Given the description of an element on the screen output the (x, y) to click on. 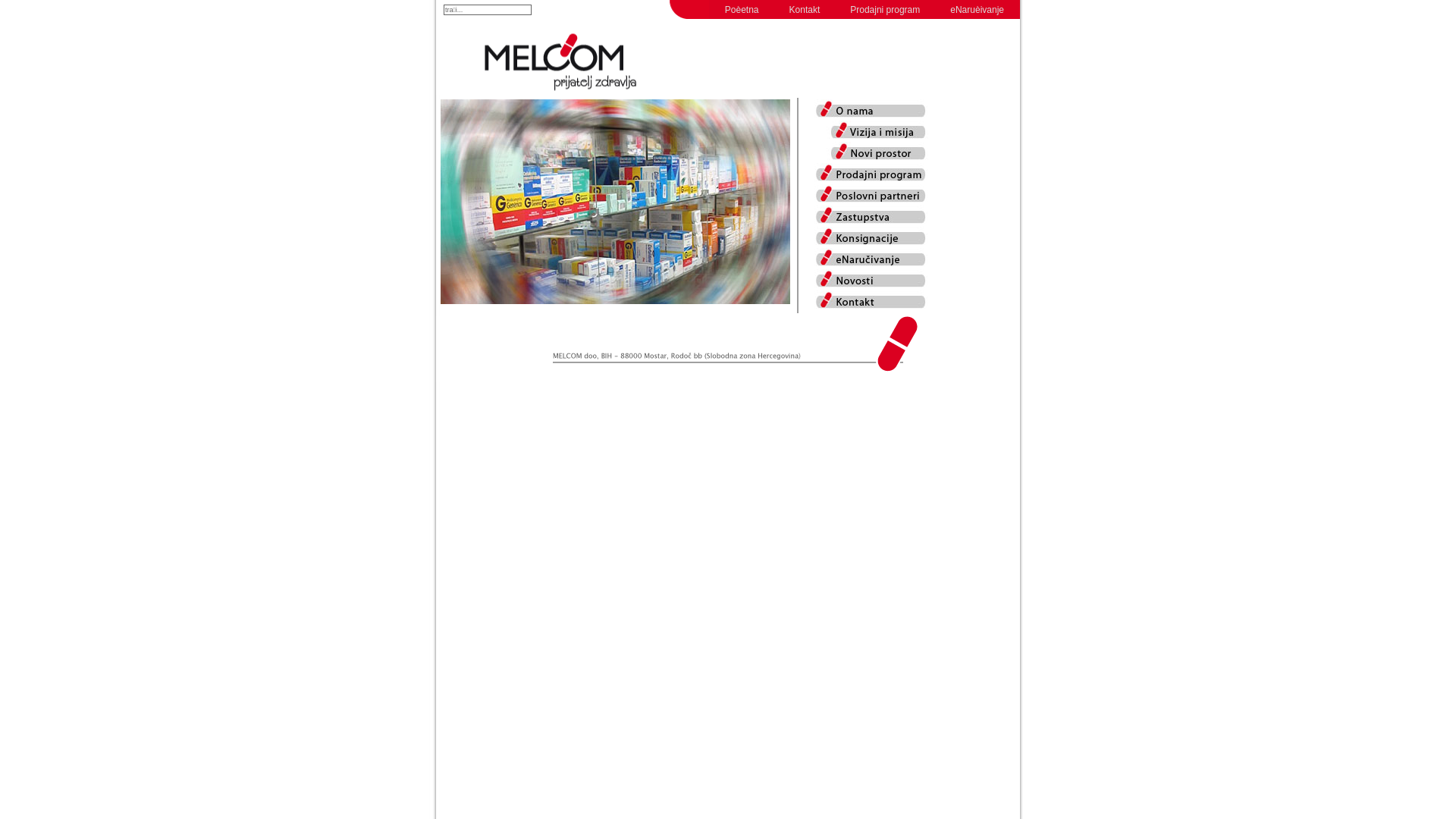
Kontakt Element type: text (804, 9)
Prodajni program Element type: text (884, 9)
